Given the description of an element on the screen output the (x, y) to click on. 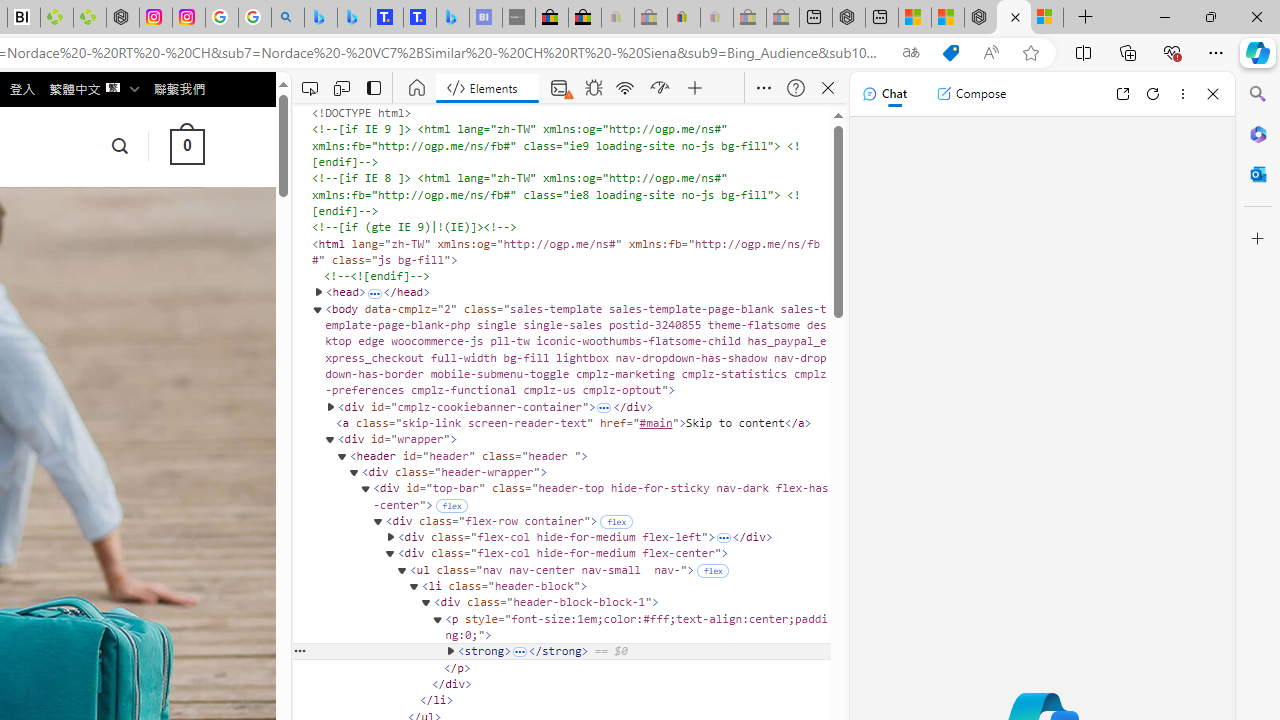
Descarga Driver Updater (90, 17)
Safety in Our Products - Google Safety Center (222, 17)
AutomationID: tab-network (626, 88)
  0   (186, 146)
#main (655, 421)
Compose (971, 93)
Nordace - Summer Adventures 2024 (1014, 17)
Microsoft Bing Travel - Stays in Bangkok, Bangkok, Thailand (353, 17)
Press Room - eBay Inc. - Sleeping (749, 17)
Close (1213, 93)
Shangri-La Bangkok, Hotel reviews and Room rates (420, 17)
Browser essentials (1171, 52)
